Given the description of an element on the screen output the (x, y) to click on. 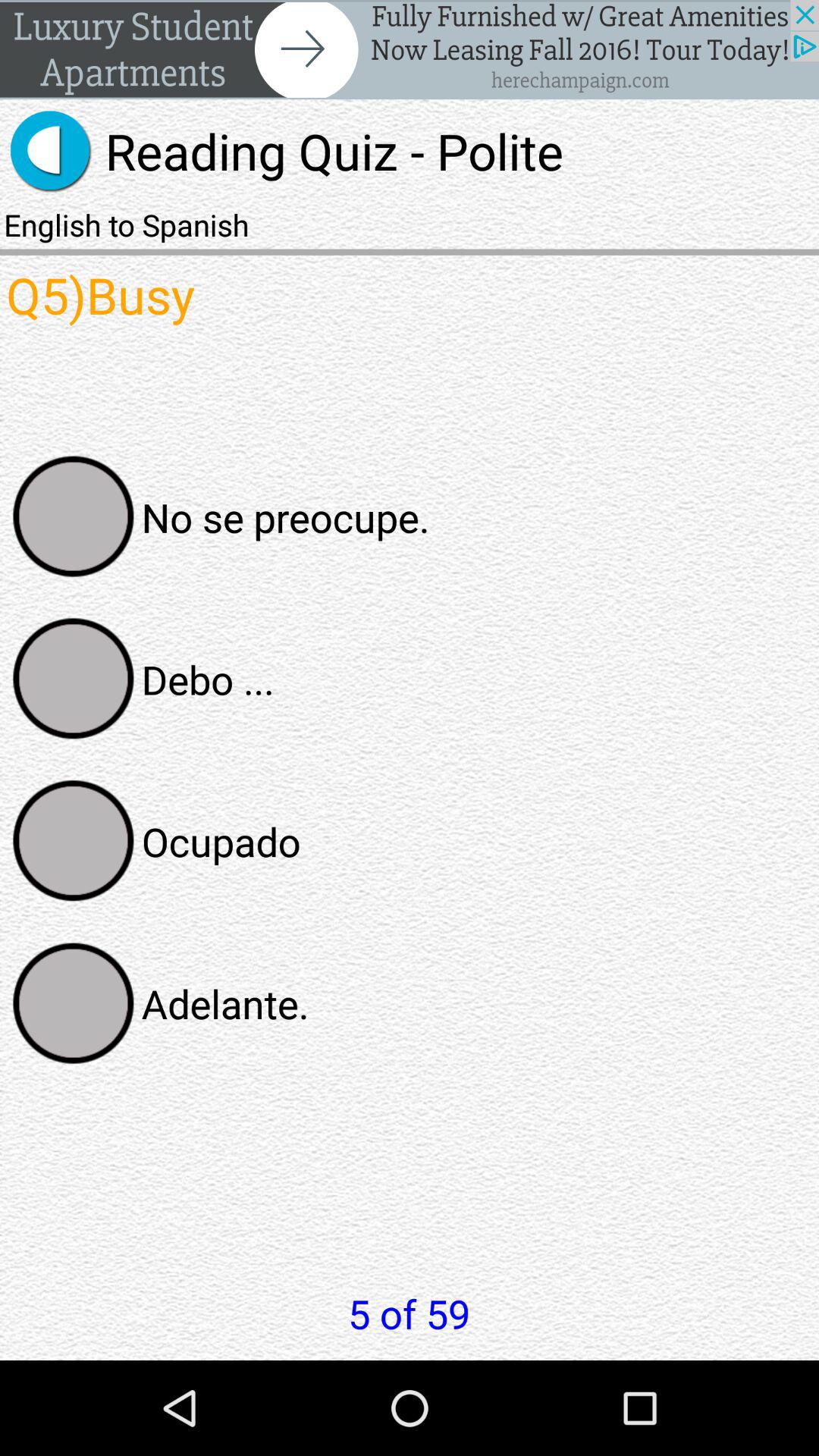
select adelante (73, 1003)
